Given the description of an element on the screen output the (x, y) to click on. 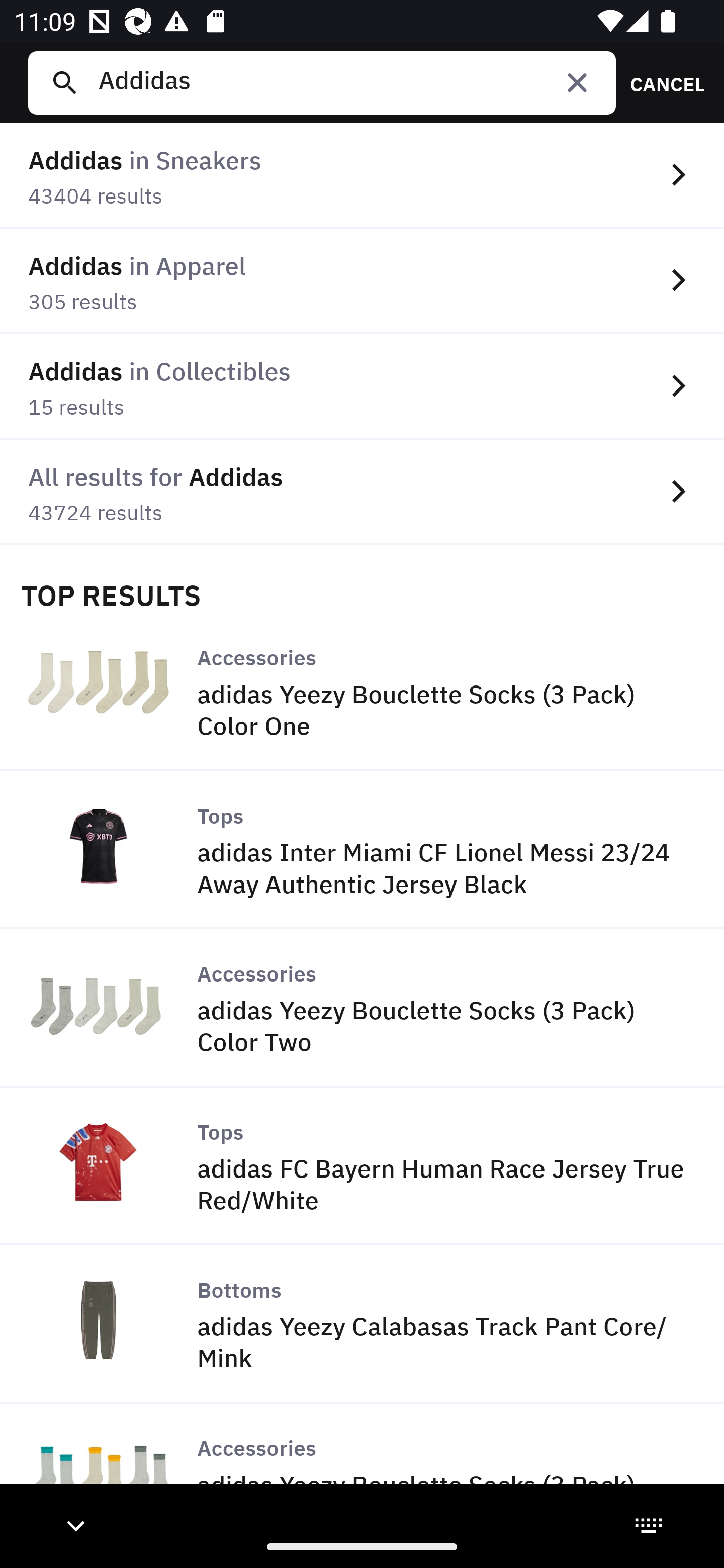
CANCEL (660, 82)
Addidas (349, 82)
 (577, 82)
Addidas  in Sneakers 43404 results  (362, 175)
Addidas  in Apparel 305 results  (362, 280)
Addidas  in Collectibles 15 results  (362, 386)
All results for  Addidas 43724 results  (362, 492)
